Given the description of an element on the screen output the (x, y) to click on. 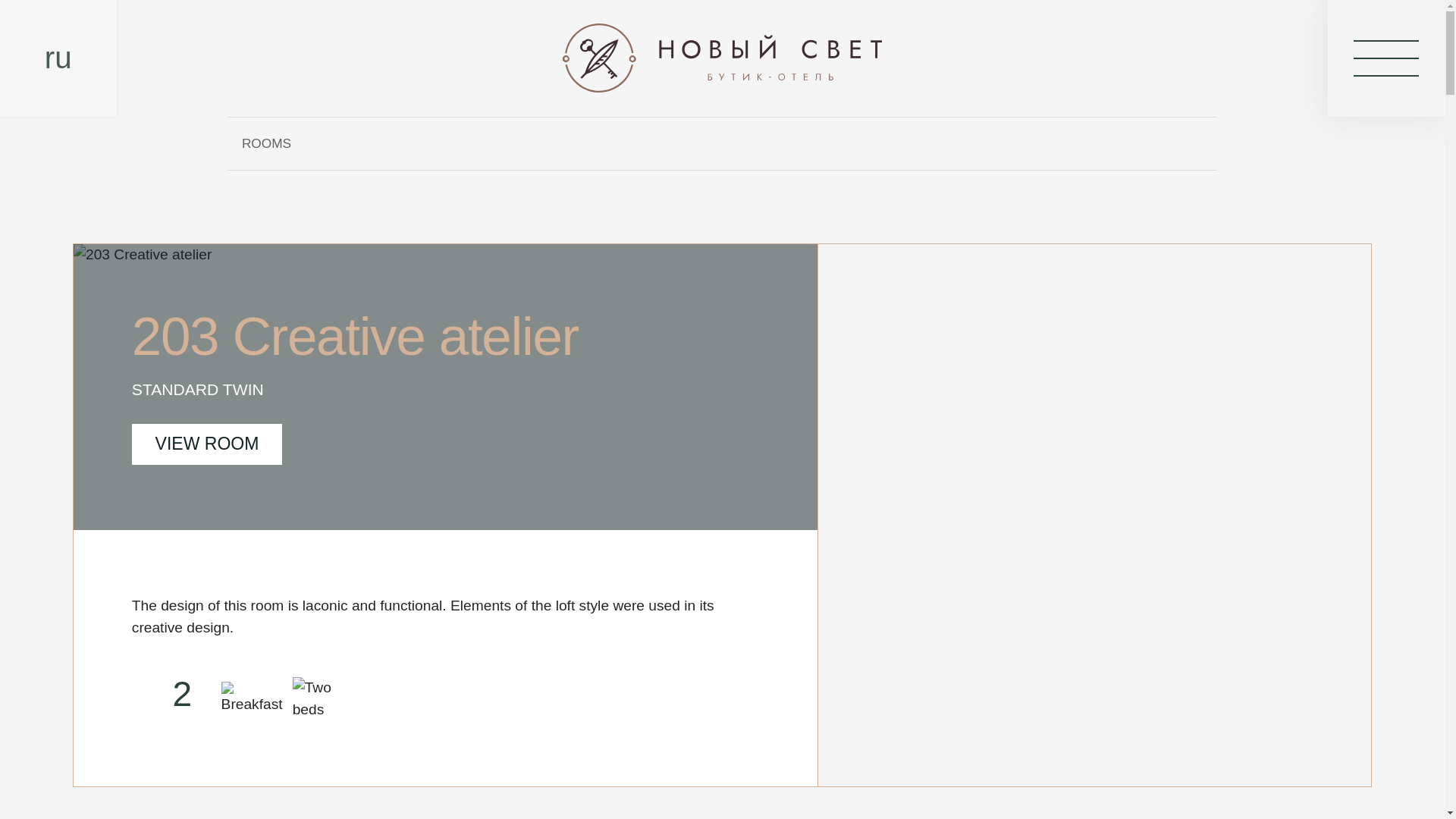
Breakfast Element type: hover (245, 698)
ru Element type: text (58, 58)
 Two beds Element type: hover (317, 699)
VIEW ROOM Element type: text (206, 443)
